Given the description of an element on the screen output the (x, y) to click on. 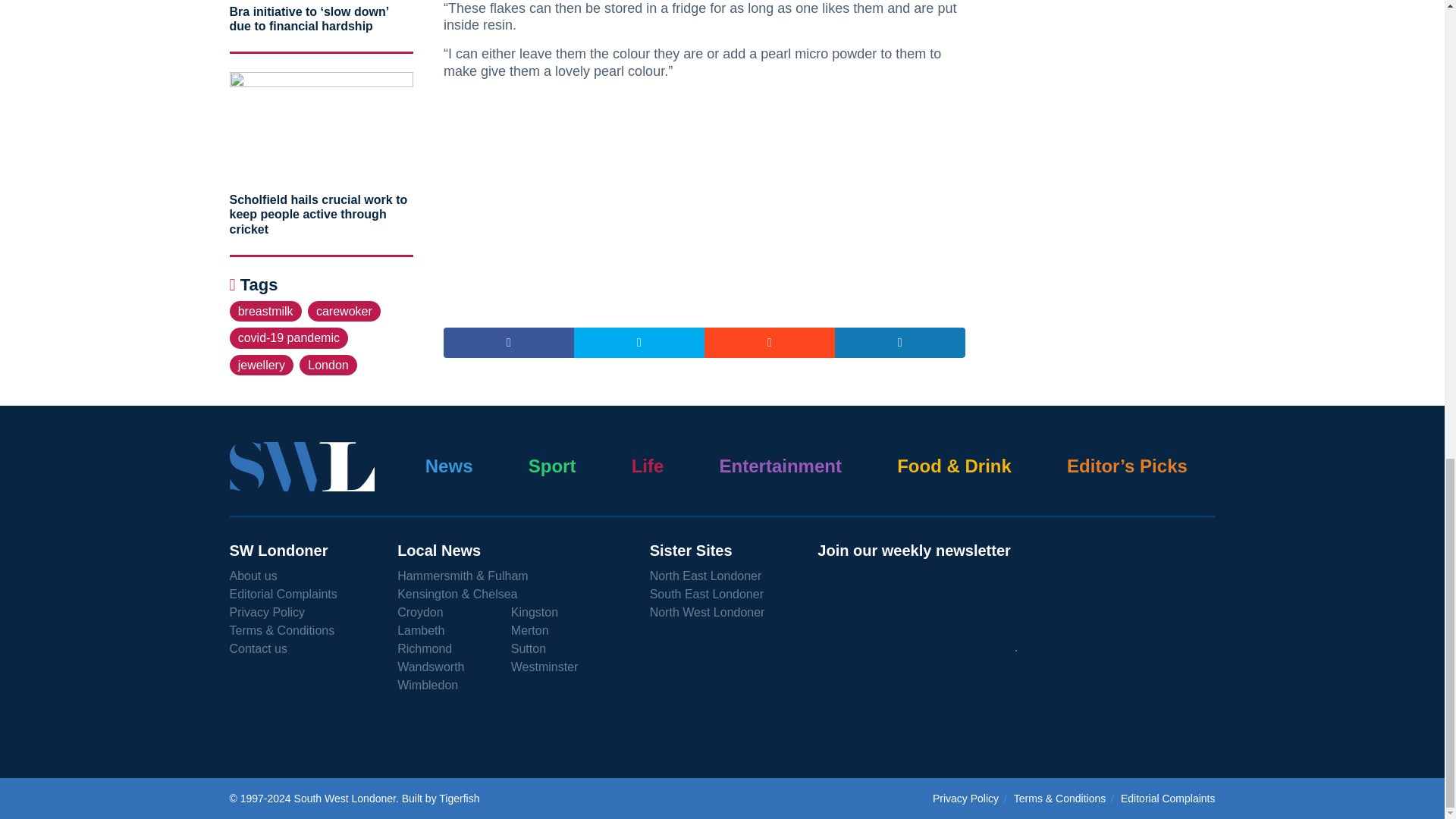
jewellery (261, 364)
carewoker (343, 311)
breastmilk (264, 311)
covid-19 pandemic (287, 337)
London (327, 364)
